Given the description of an element on the screen output the (x, y) to click on. 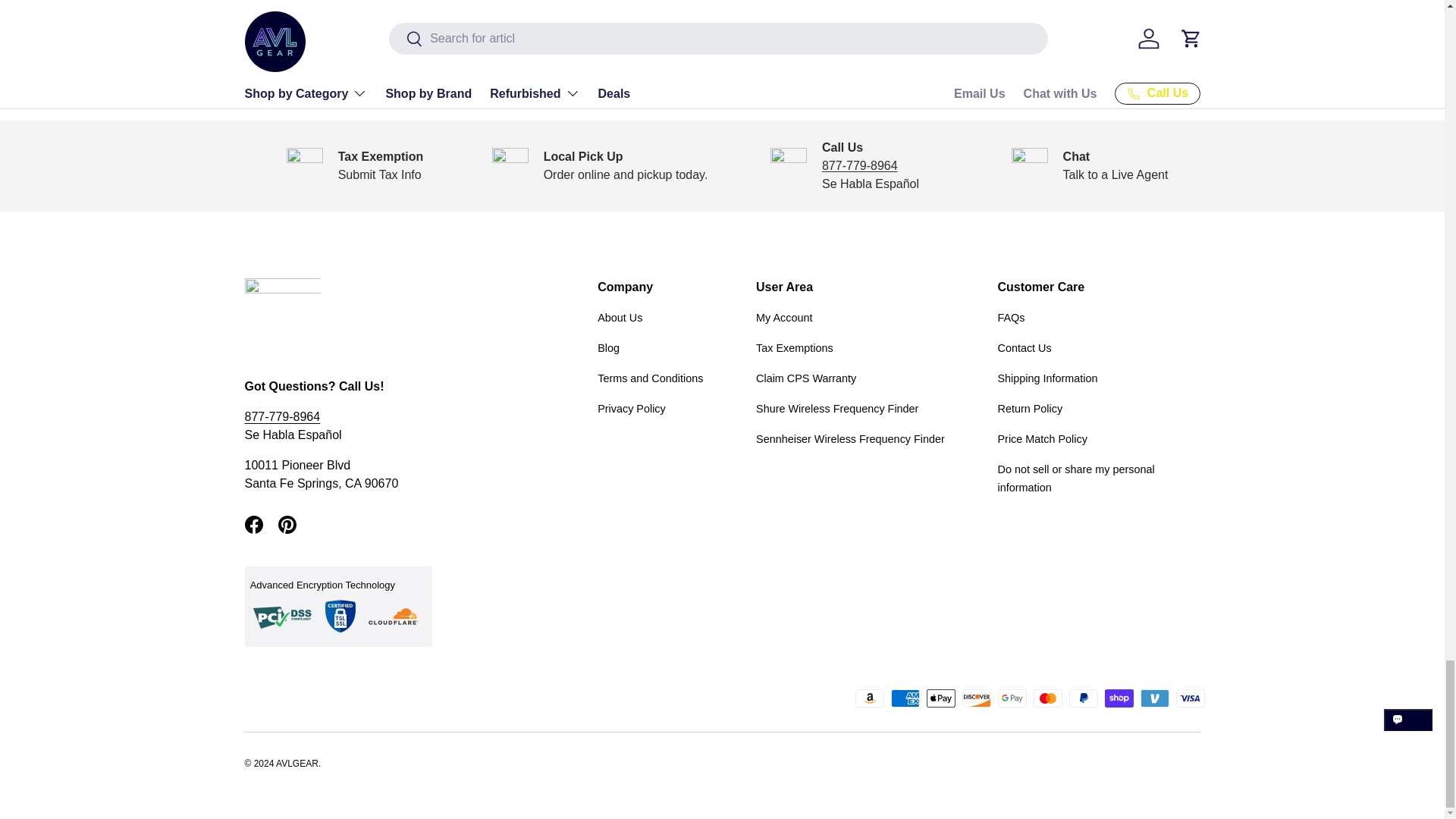
877-779-8964 (860, 164)
AVLGEAR on Facebook (252, 524)
877-779-8964 (282, 416)
AVLGEAR on Pinterest (285, 524)
